Given the description of an element on the screen output the (x, y) to click on. 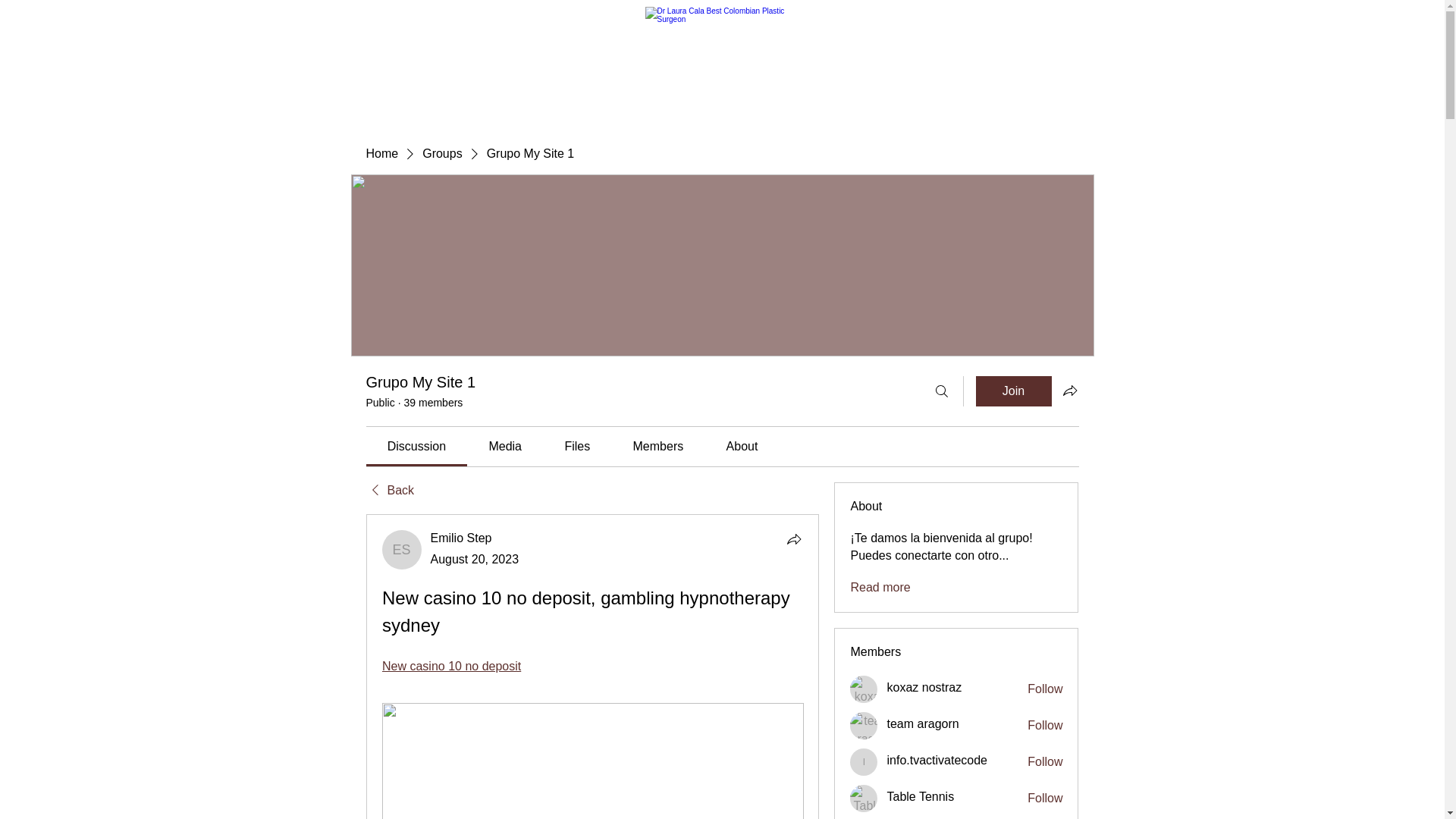
Emilio Step (401, 549)
Follow (1044, 688)
Table Tennis (919, 796)
Read more (880, 587)
Follow (1044, 761)
Table Tennis (863, 798)
Emilio Step (461, 537)
Back (389, 490)
Follow (1044, 725)
Emilio Step (461, 537)
